Given the description of an element on the screen output the (x, y) to click on. 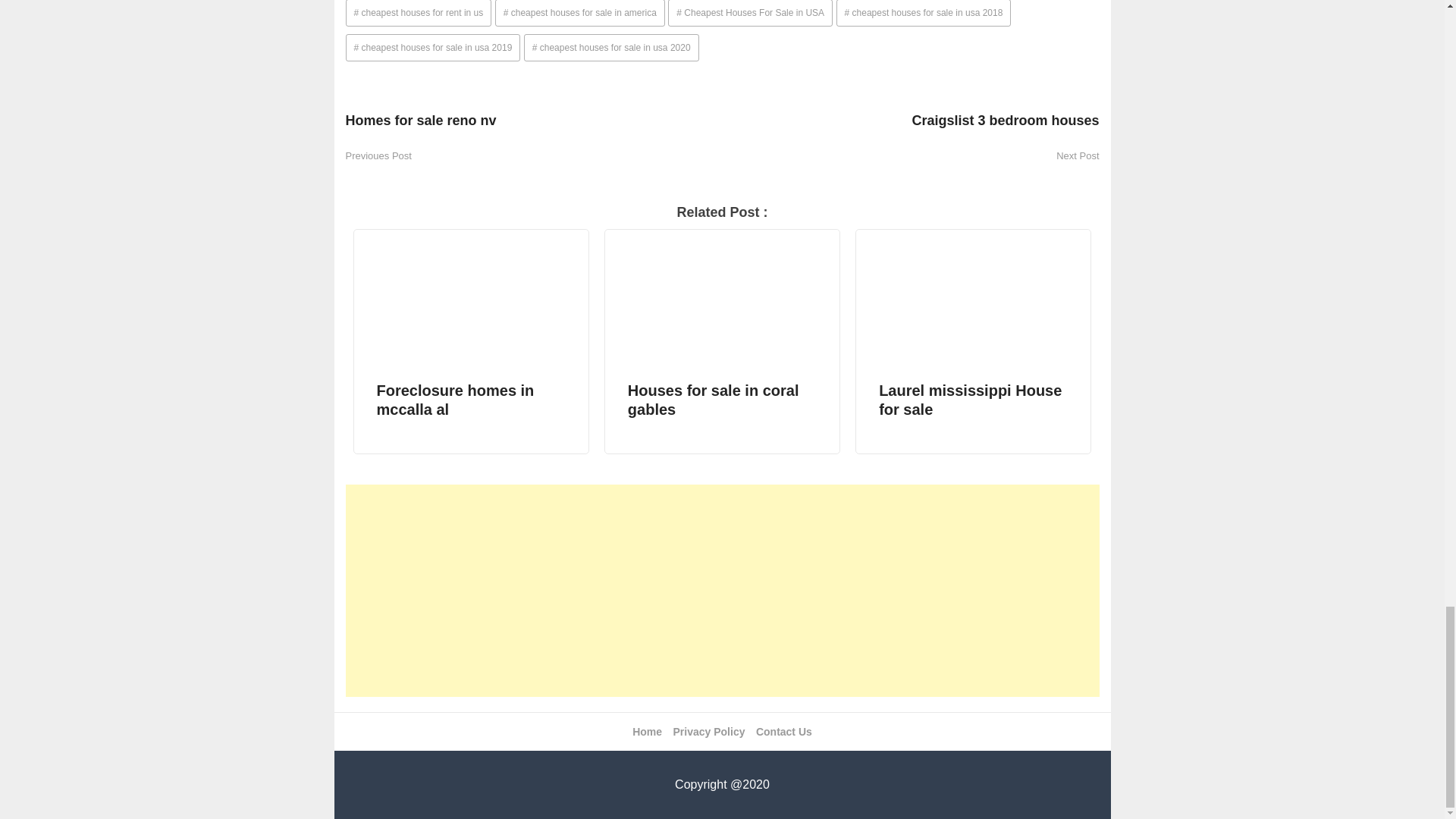
Foreclosure homes in mccalla al (471, 341)
Craigslist 3 bedroom houses (910, 127)
Laurel mississippi House for sale (973, 341)
Foreclosure homes in mccalla al (471, 341)
Homes for sale reno nv (534, 127)
Privacy Policy (708, 731)
Houses for sale in coral gables (722, 341)
Laurel mississippi House for sale (973, 341)
Houses for sale in coral gables (722, 341)
Home (646, 731)
Contact Us (783, 731)
